Given the description of an element on the screen output the (x, y) to click on. 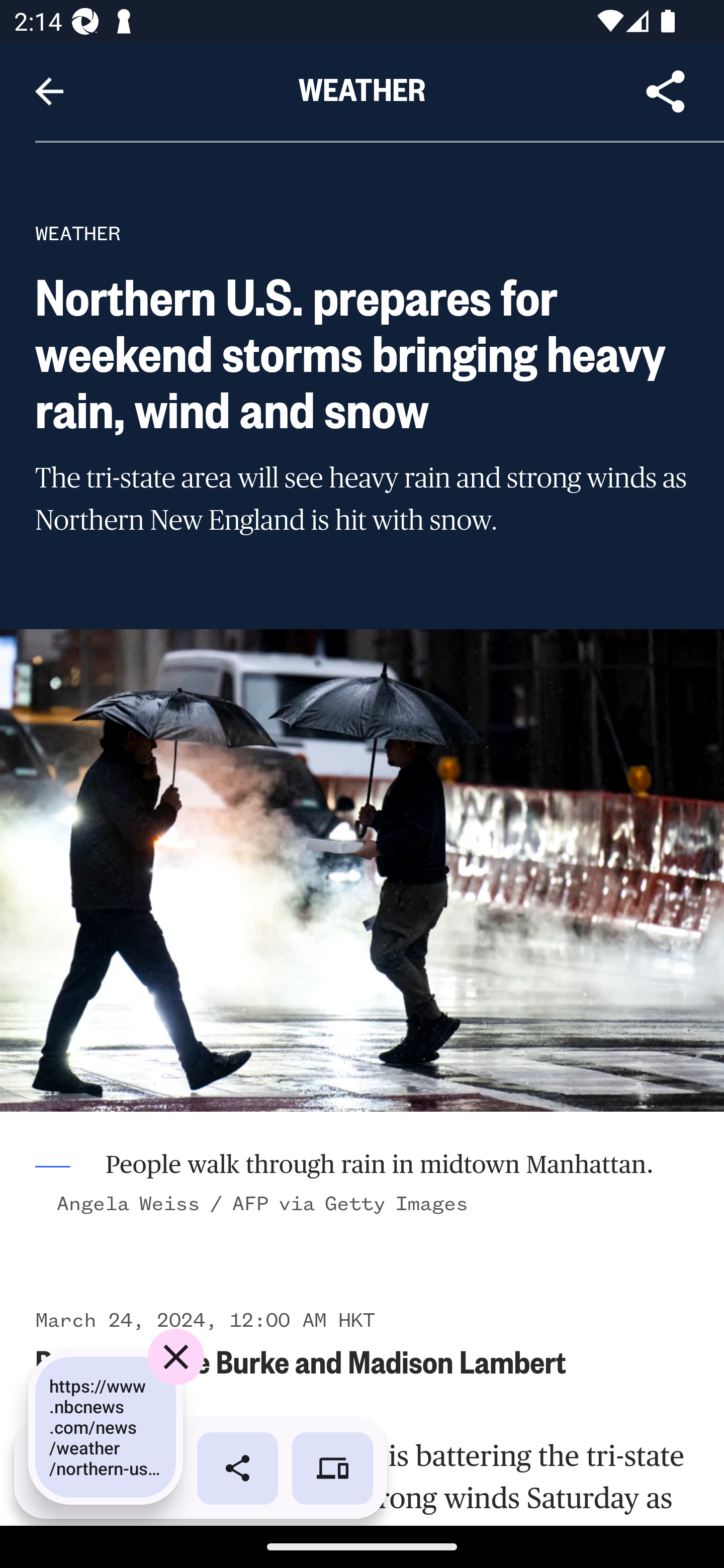
Navigate up (49, 91)
Share Article, button (665, 91)
WEATHER (77, 233)
